Given the description of an element on the screen output the (x, y) to click on. 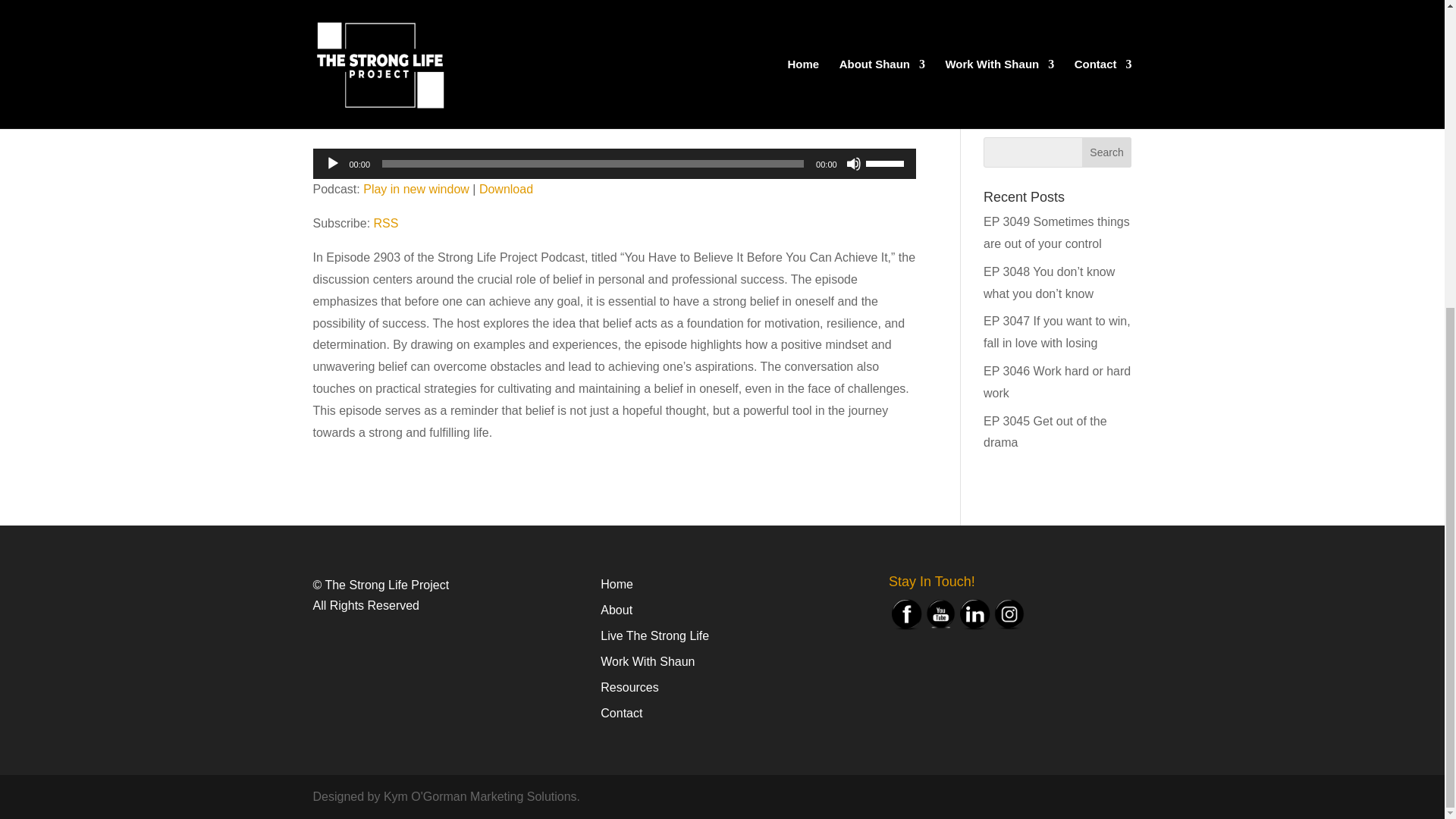
Subscribe via RSS (386, 223)
Facebook (906, 613)
Play in new window (415, 188)
LinkedIn (974, 613)
Play in new window (415, 188)
Instagram (1009, 613)
Download (505, 188)
Play (331, 163)
RSS (386, 223)
Search (1106, 152)
Download (505, 188)
Mute (853, 163)
